Given the description of an element on the screen output the (x, y) to click on. 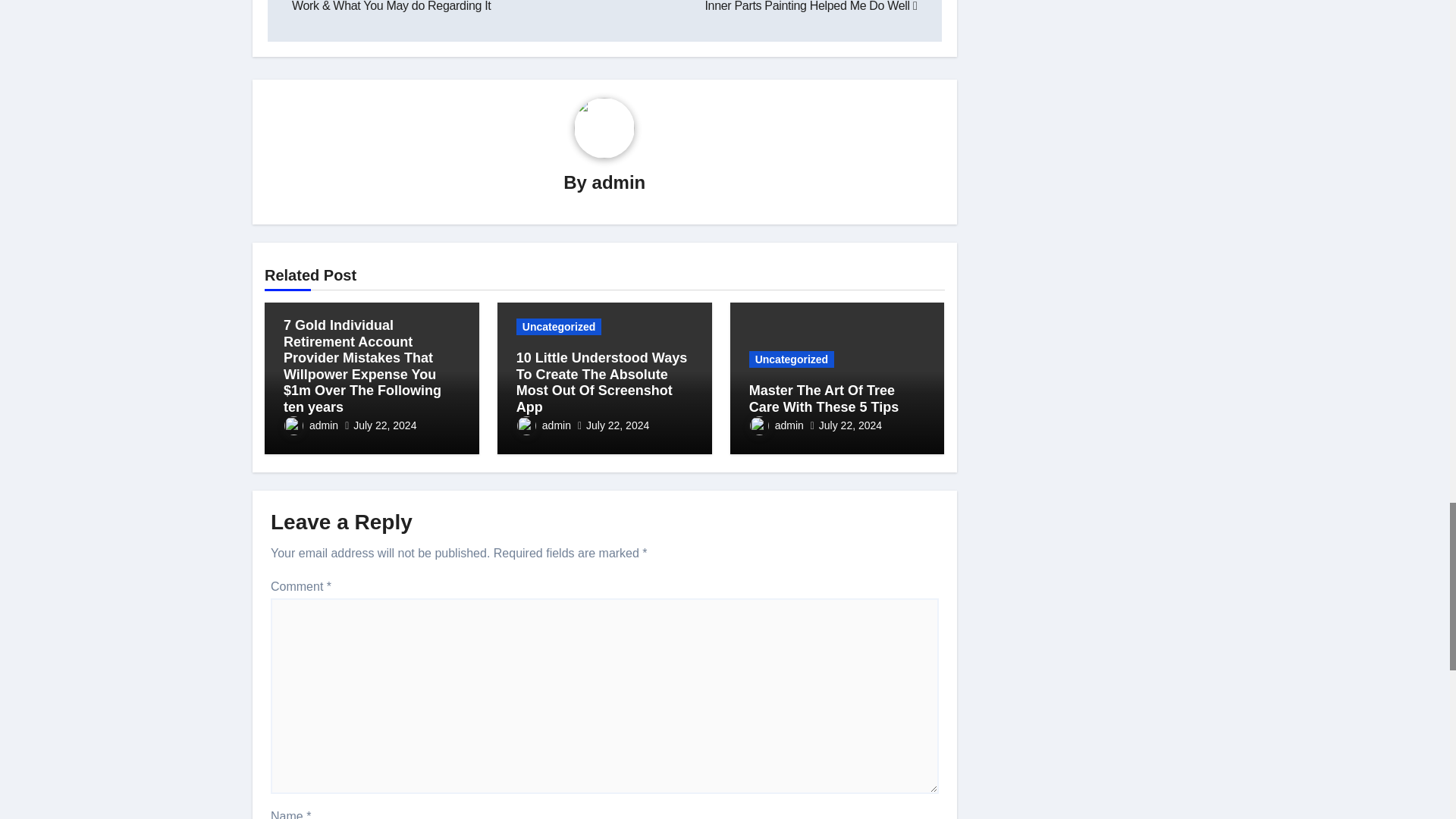
admin (310, 425)
admin (619, 181)
July 22, 2024 (384, 425)
Permalink to: Master The Art Of Tree Care With These 5 Tips (824, 398)
